Given the description of an element on the screen output the (x, y) to click on. 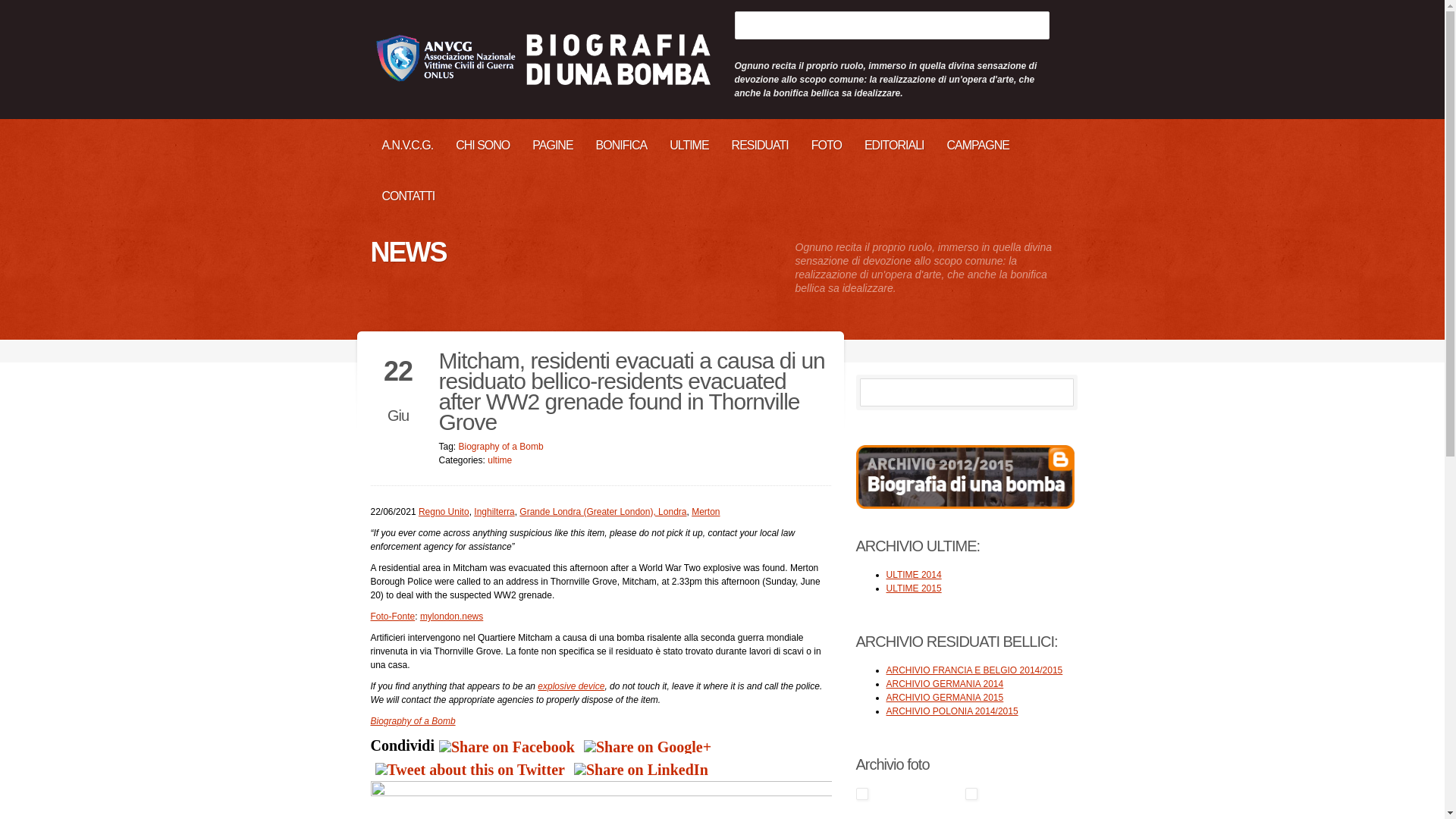
RESIDUATI (759, 144)
PAGINE (552, 144)
Twitter (469, 769)
CONTATTI (407, 195)
explosive device (570, 685)
Inghilterra (493, 511)
Biography of a Bomb (500, 446)
Merton (705, 511)
BONIFICA (622, 144)
EDITORIALI (894, 144)
